Given the description of an element on the screen output the (x, y) to click on. 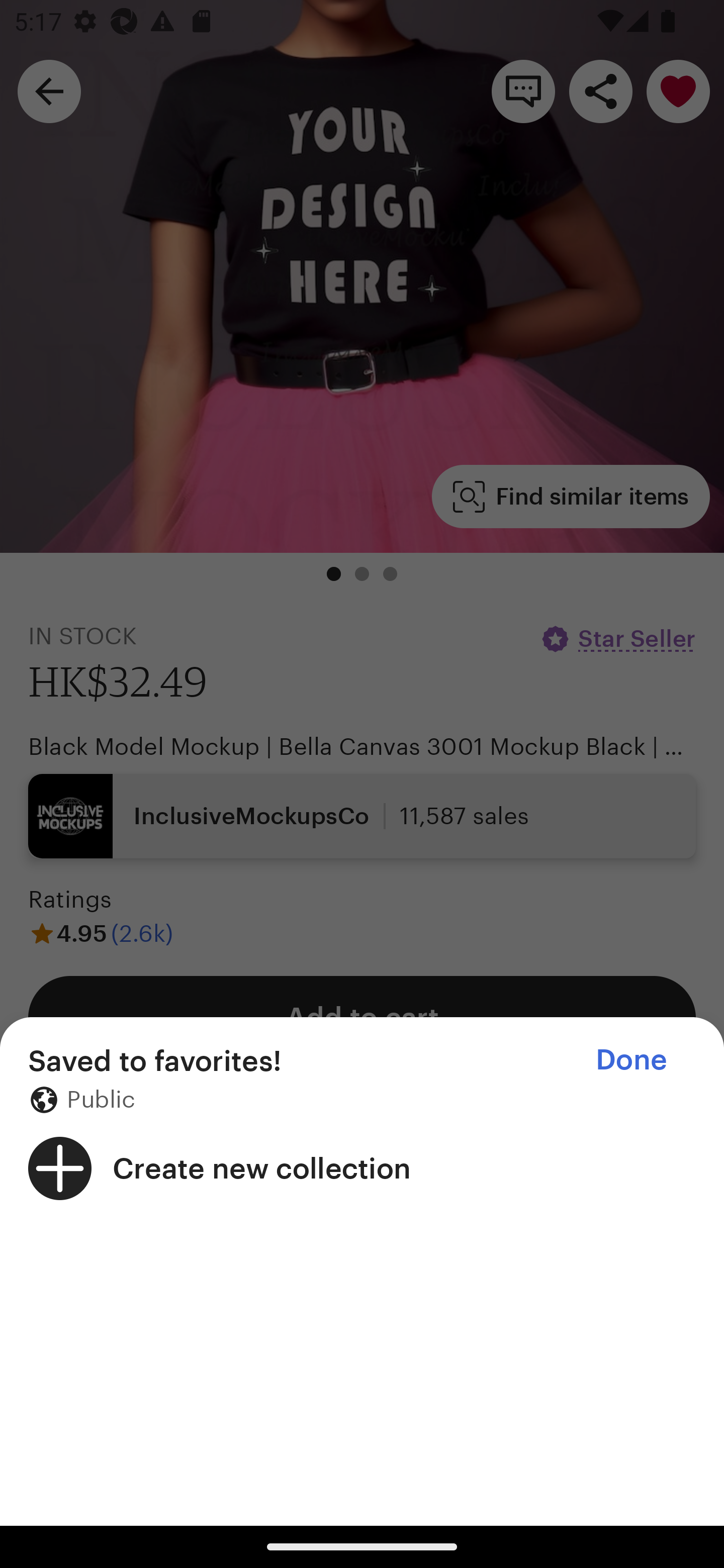
Done (630, 1059)
Create new collection (361, 1167)
